Given the description of an element on the screen output the (x, y) to click on. 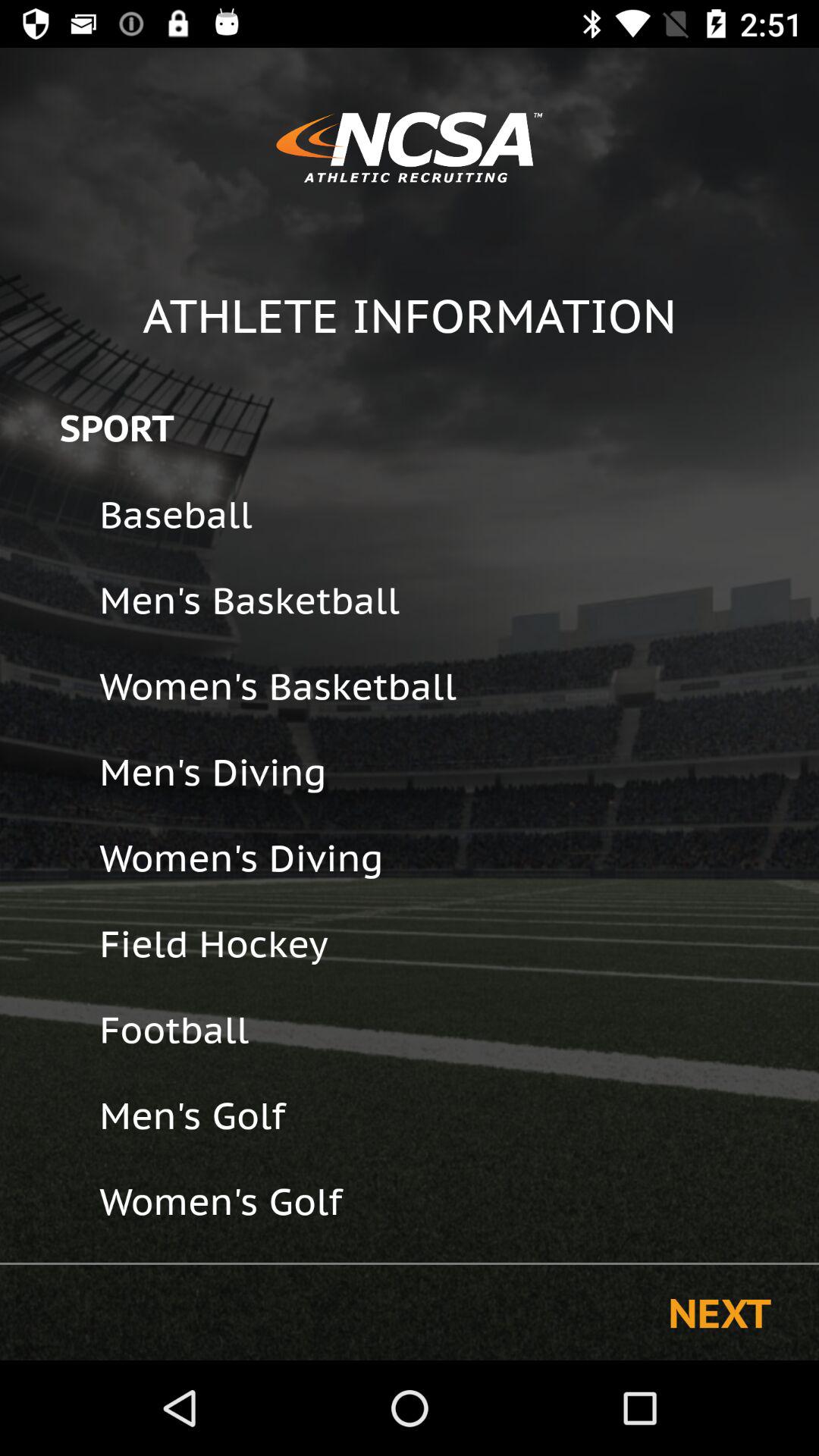
flip until the baseball (449, 514)
